Given the description of an element on the screen output the (x, y) to click on. 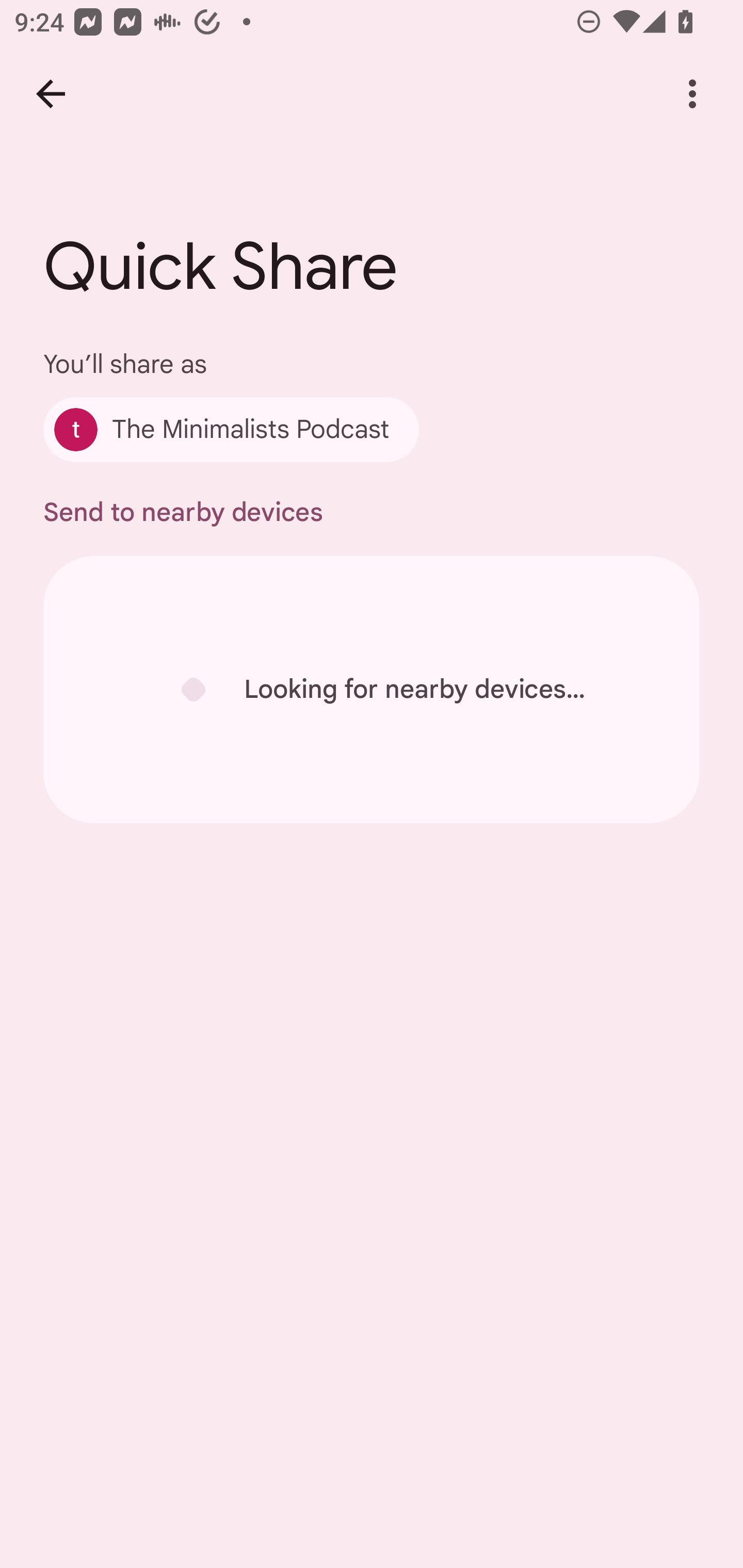
Back (50, 93)
More (692, 93)
The Minimalists Podcast (231, 429)
